Given the description of an element on the screen output the (x, y) to click on. 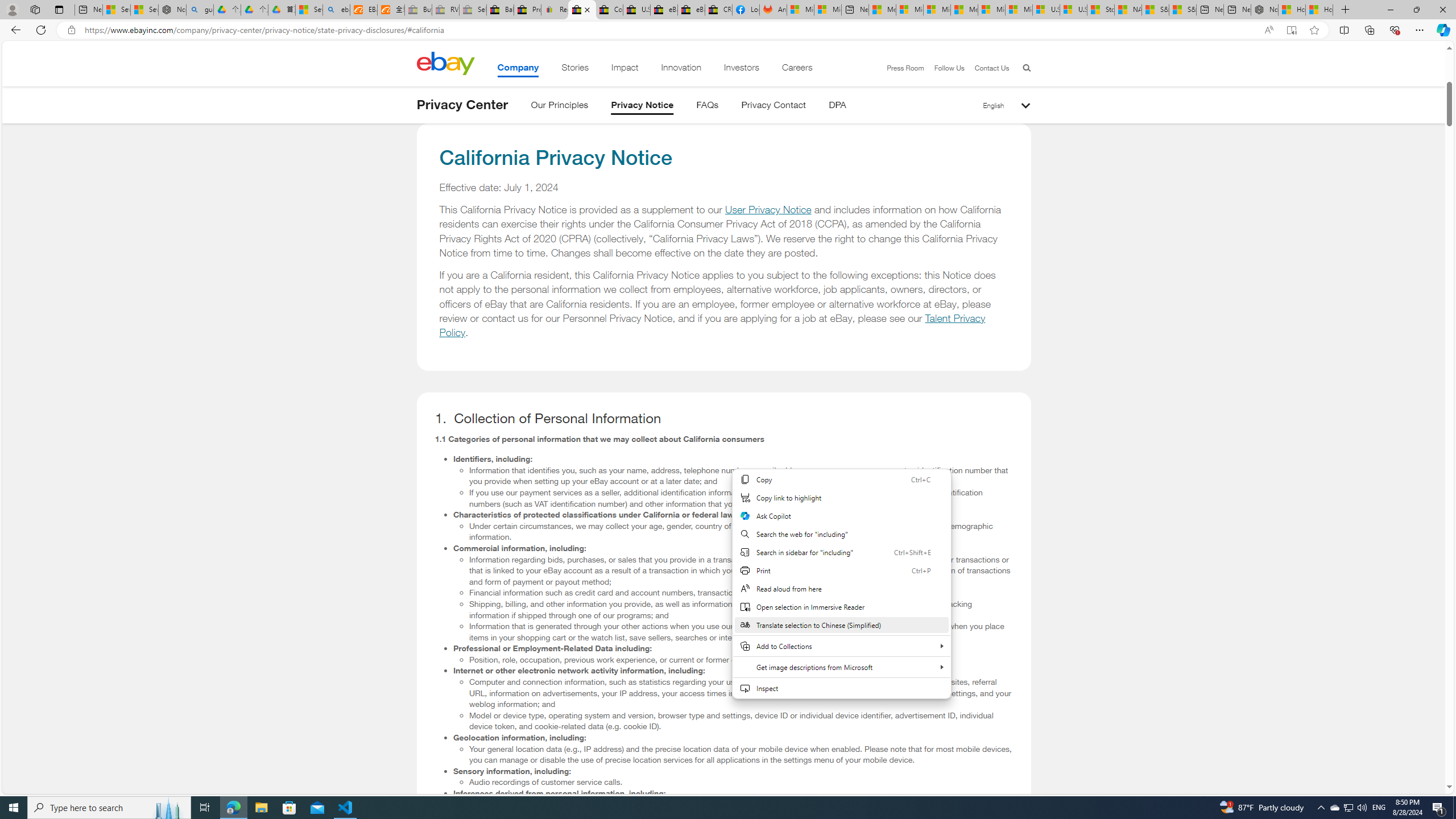
Register: Create a personal eBay account (554, 9)
Search in sidebar for "including" (841, 551)
